Given the description of an element on the screen output the (x, y) to click on. 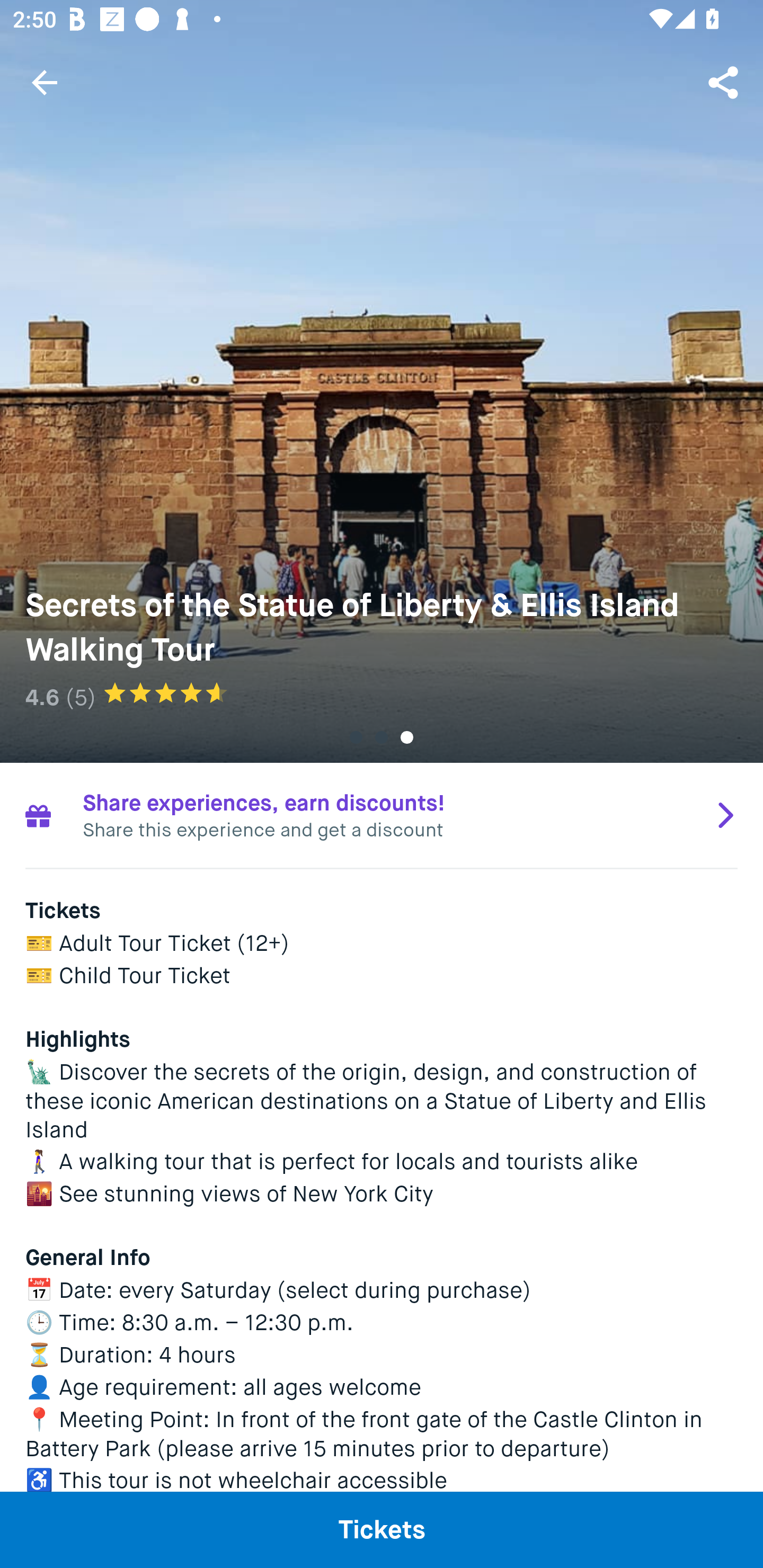
Navigate up (44, 82)
Share (724, 81)
(5) (80, 697)
Tickets (381, 1529)
